Given the description of an element on the screen output the (x, y) to click on. 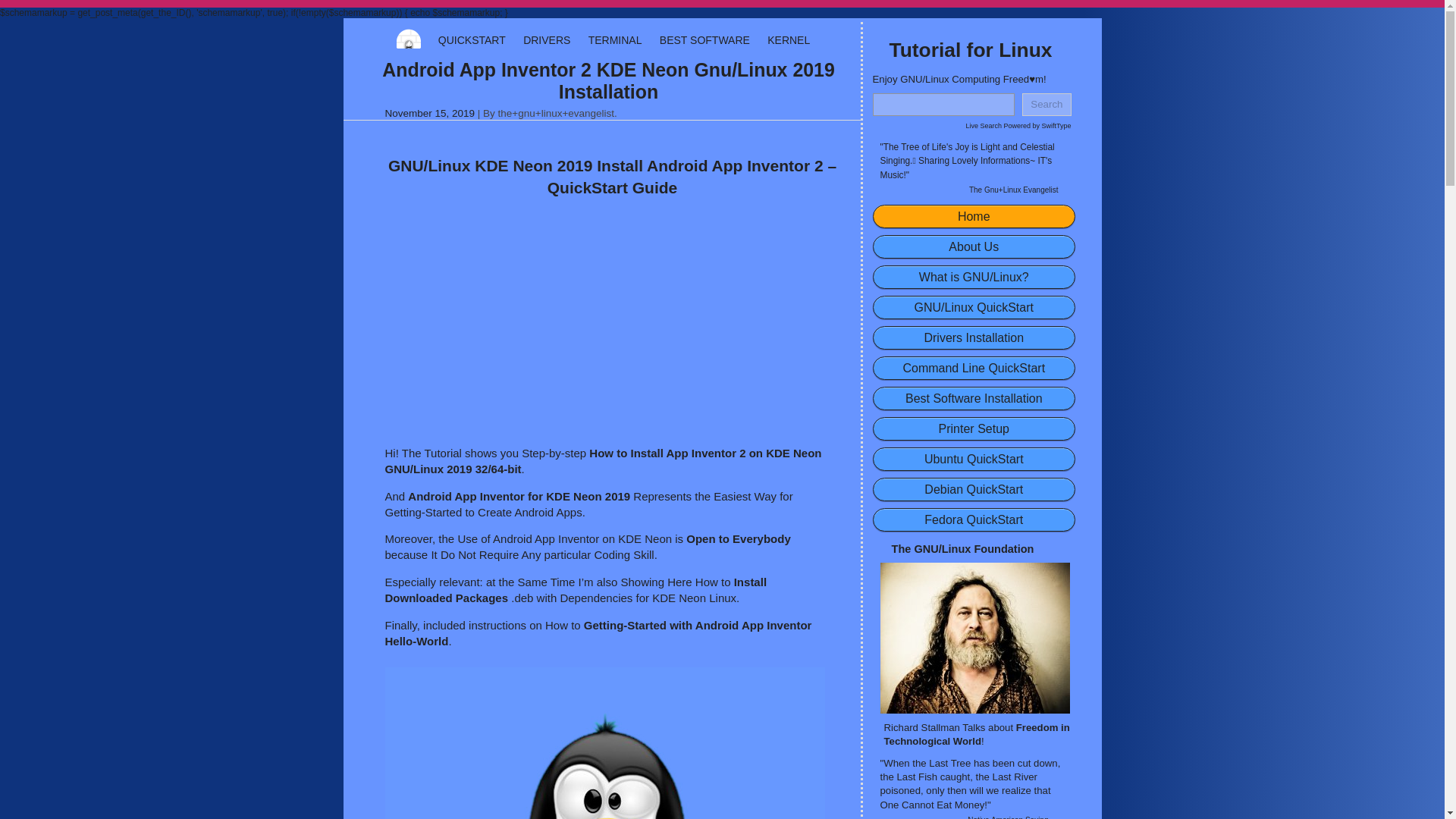
DRIVERS (546, 39)
QUICKSTART (471, 39)
November 15, 2019 (430, 112)
KERNEL (788, 39)
BEST SOFTWARE (704, 39)
TERMINAL (615, 39)
